Given the description of an element on the screen output the (x, y) to click on. 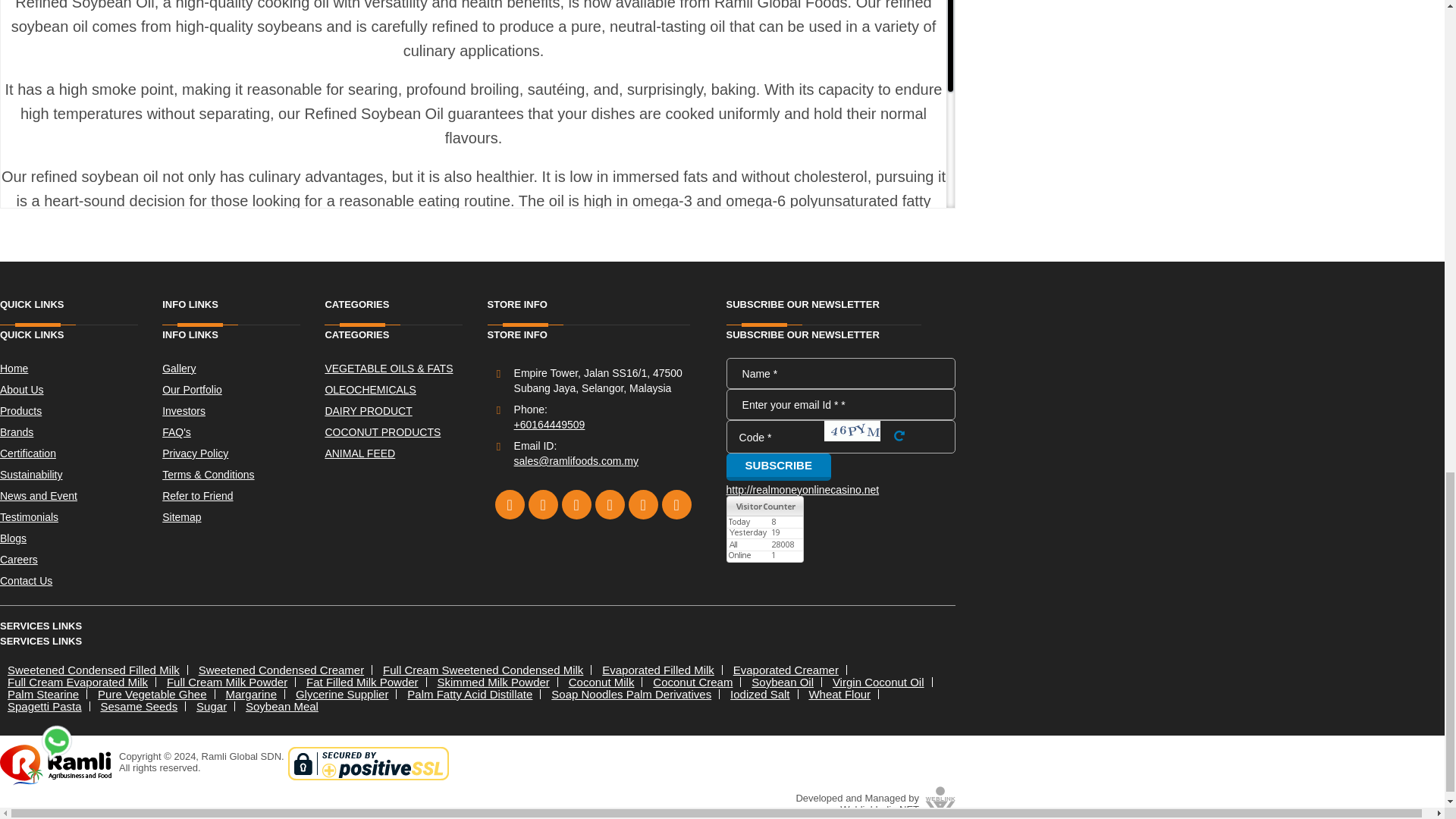
Refined Soybean Oil Suppliers (387, 351)
About Us (80, 389)
Ramli Global Foods (580, 264)
Products (80, 410)
Home (80, 368)
